Given the description of an element on the screen output the (x, y) to click on. 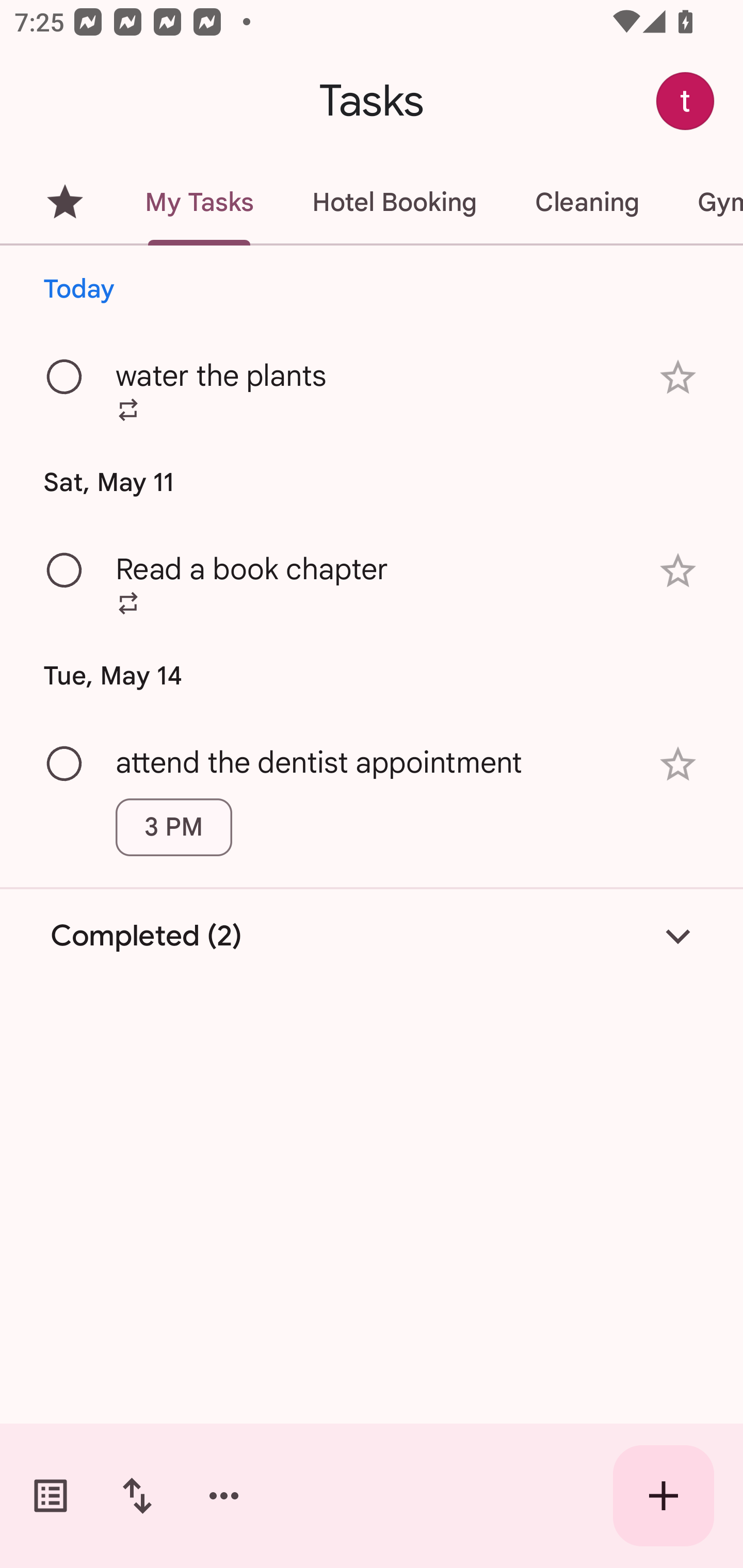
Starred (64, 202)
Hotel Booking (394, 202)
Cleaning (586, 202)
Add star (677, 376)
Mark as complete (64, 377)
Add star (677, 571)
Mark as complete (64, 570)
Add star (677, 764)
Mark as complete (64, 764)
3 PM (173, 827)
Completed (2) (371, 936)
Switch task lists (50, 1495)
Create new task (663, 1495)
Change sort order (136, 1495)
More options (223, 1495)
